Given the description of an element on the screen output the (x, y) to click on. 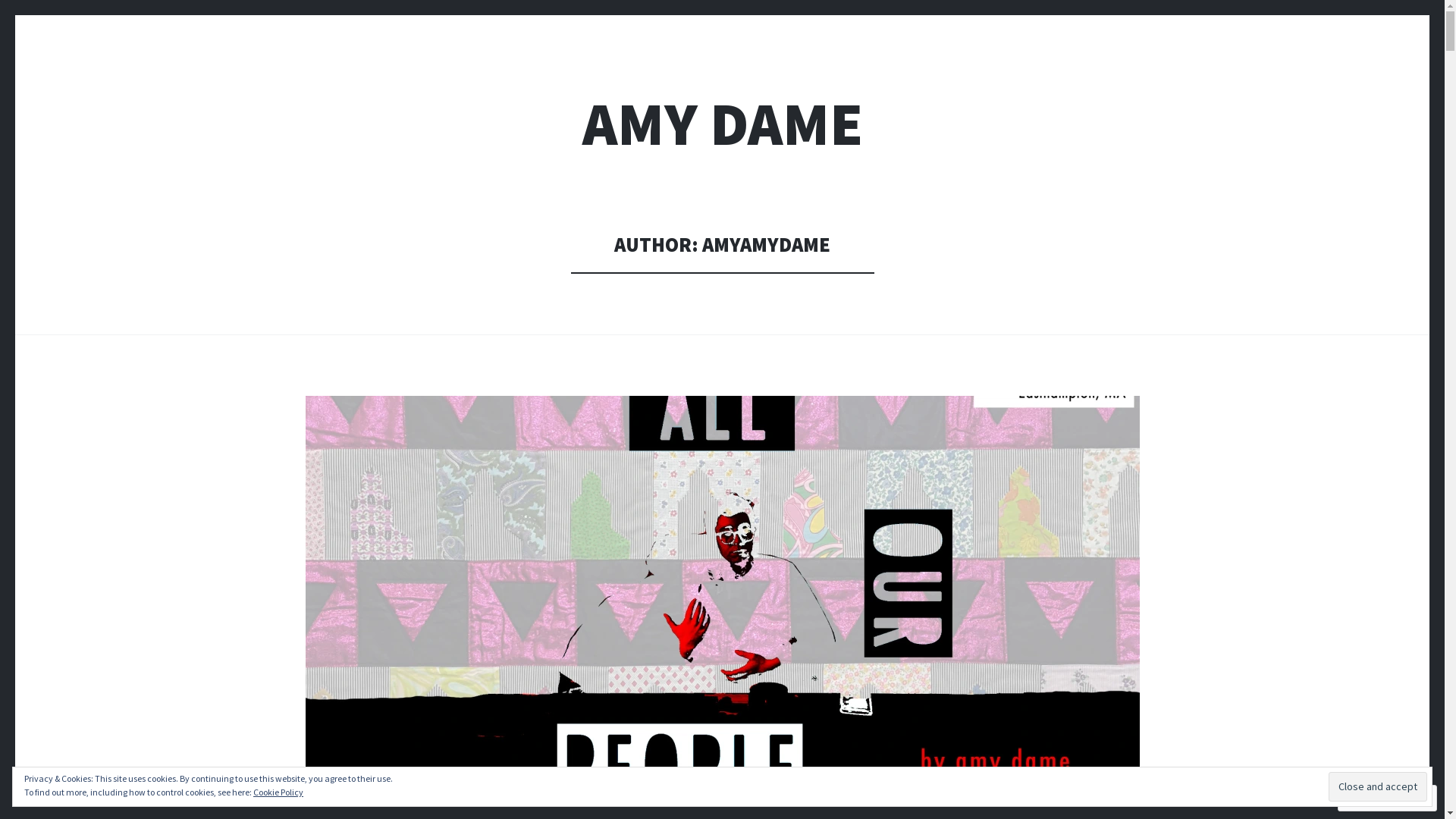
Close and accept Element type: text (1377, 786)
Cookie Policy Element type: text (278, 791)
AMY DAME Element type: text (722, 123)
Follow Element type: text (1372, 797)
